Given the description of an element on the screen output the (x, y) to click on. 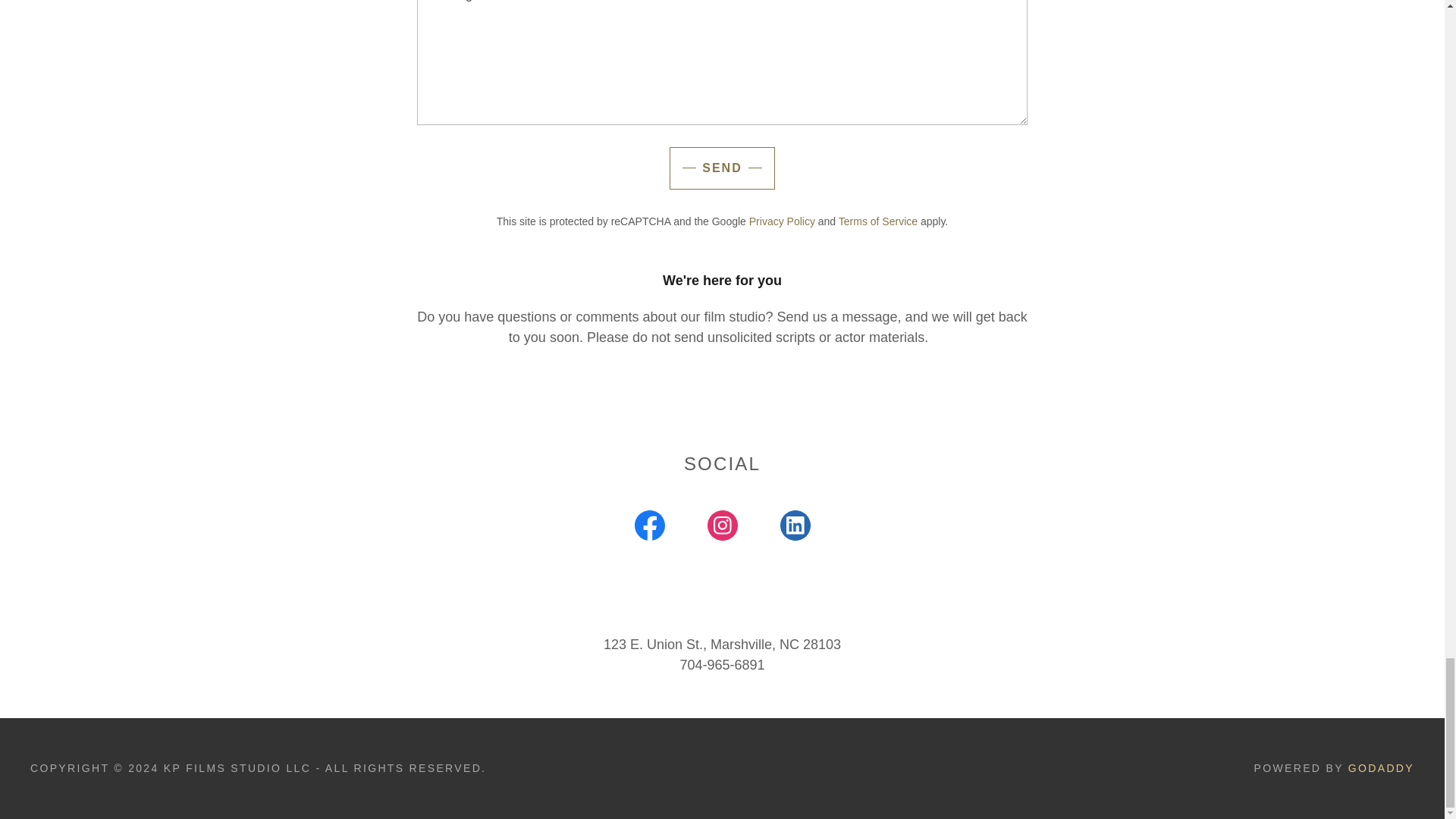
SEND (721, 168)
Privacy Policy (782, 221)
Terms of Service (877, 221)
GODADDY (1380, 767)
